Given the description of an element on the screen output the (x, y) to click on. 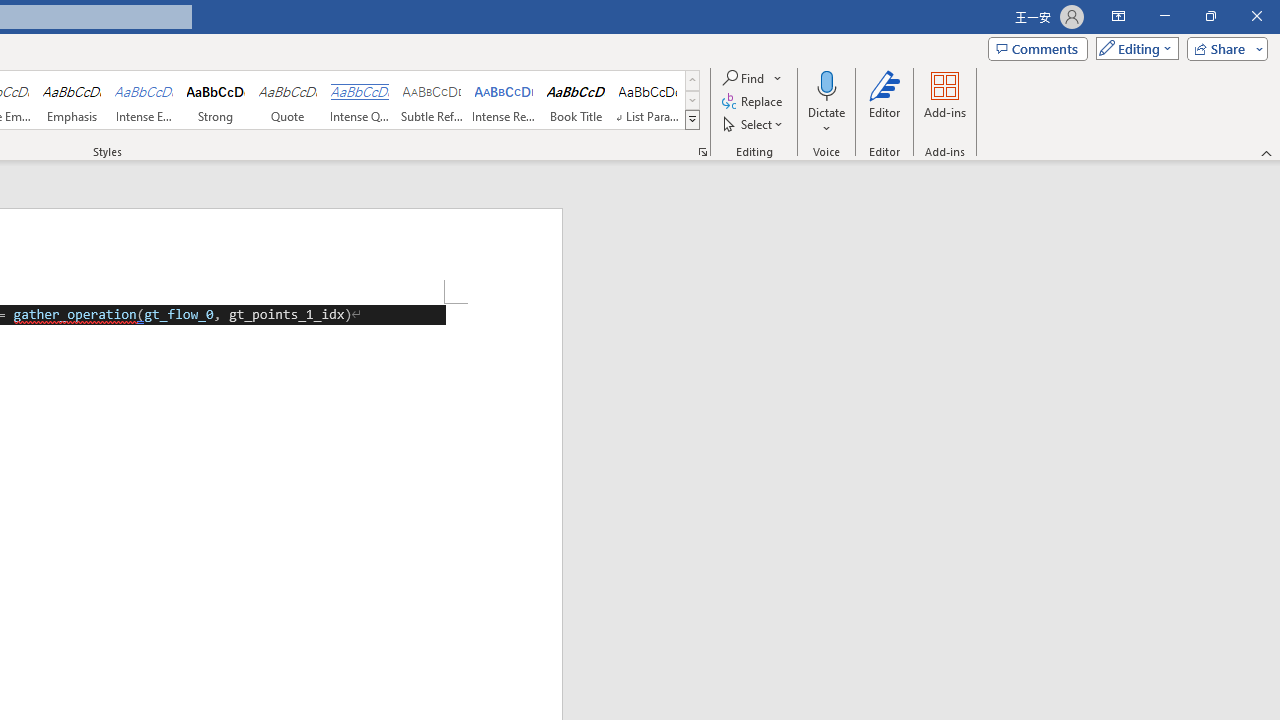
Book Title (575, 100)
